Given the description of an element on the screen output the (x, y) to click on. 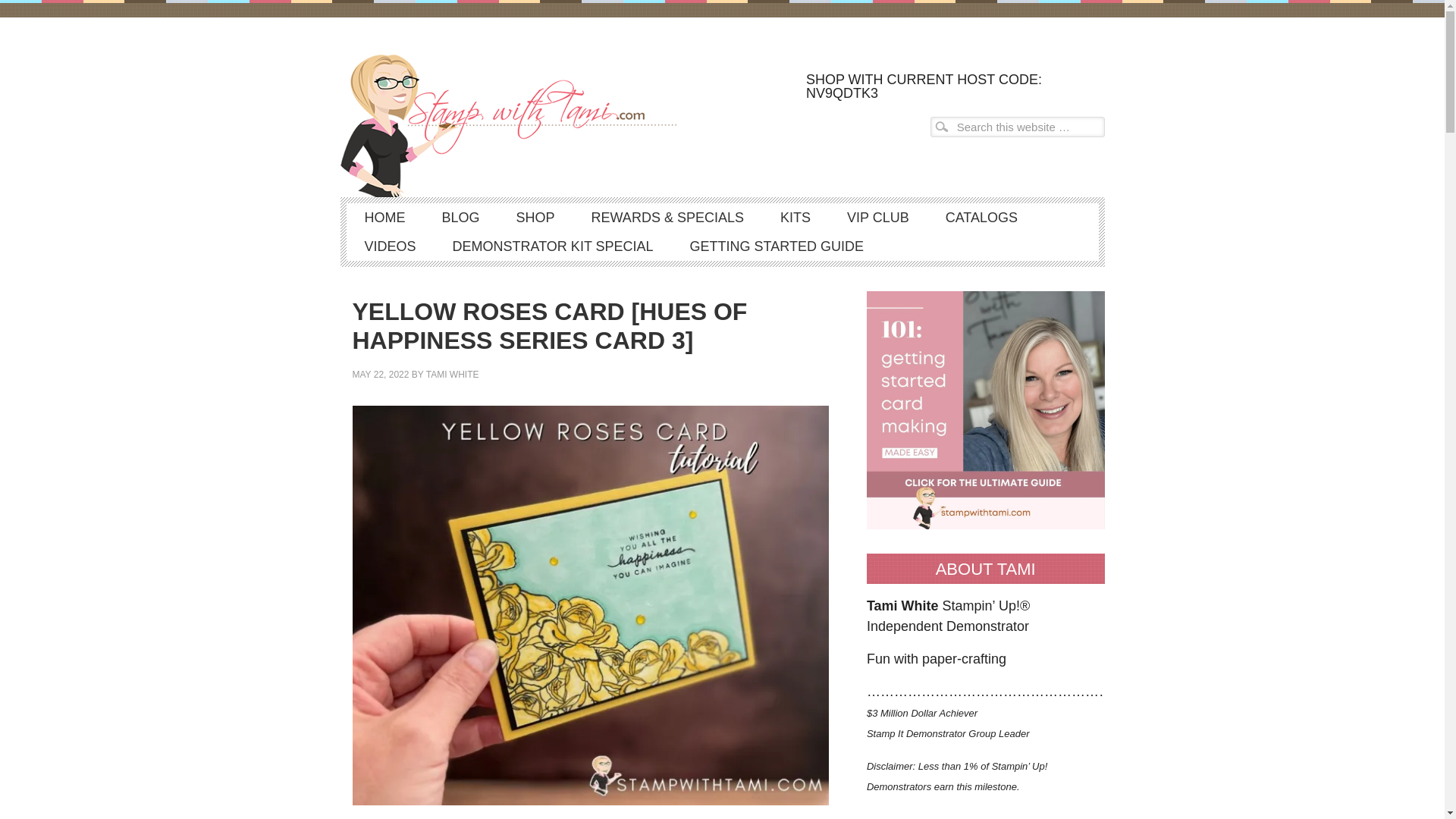
TAMI WHITE (452, 374)
VIDEOS (389, 246)
VIP CLUB (877, 217)
GETTING STARTED GUIDE (776, 246)
SHOP WITH CURRENT HOST CODE: NV9QDTK3 (950, 85)
2022-05-22T07:00:00-04:00 (380, 374)
SHOP (535, 217)
BLOG (460, 217)
DEMONSTRATOR KIT SPECIAL (552, 246)
CATALOGS (981, 217)
KITS (794, 217)
HOME (384, 217)
